Given the description of an element on the screen output the (x, y) to click on. 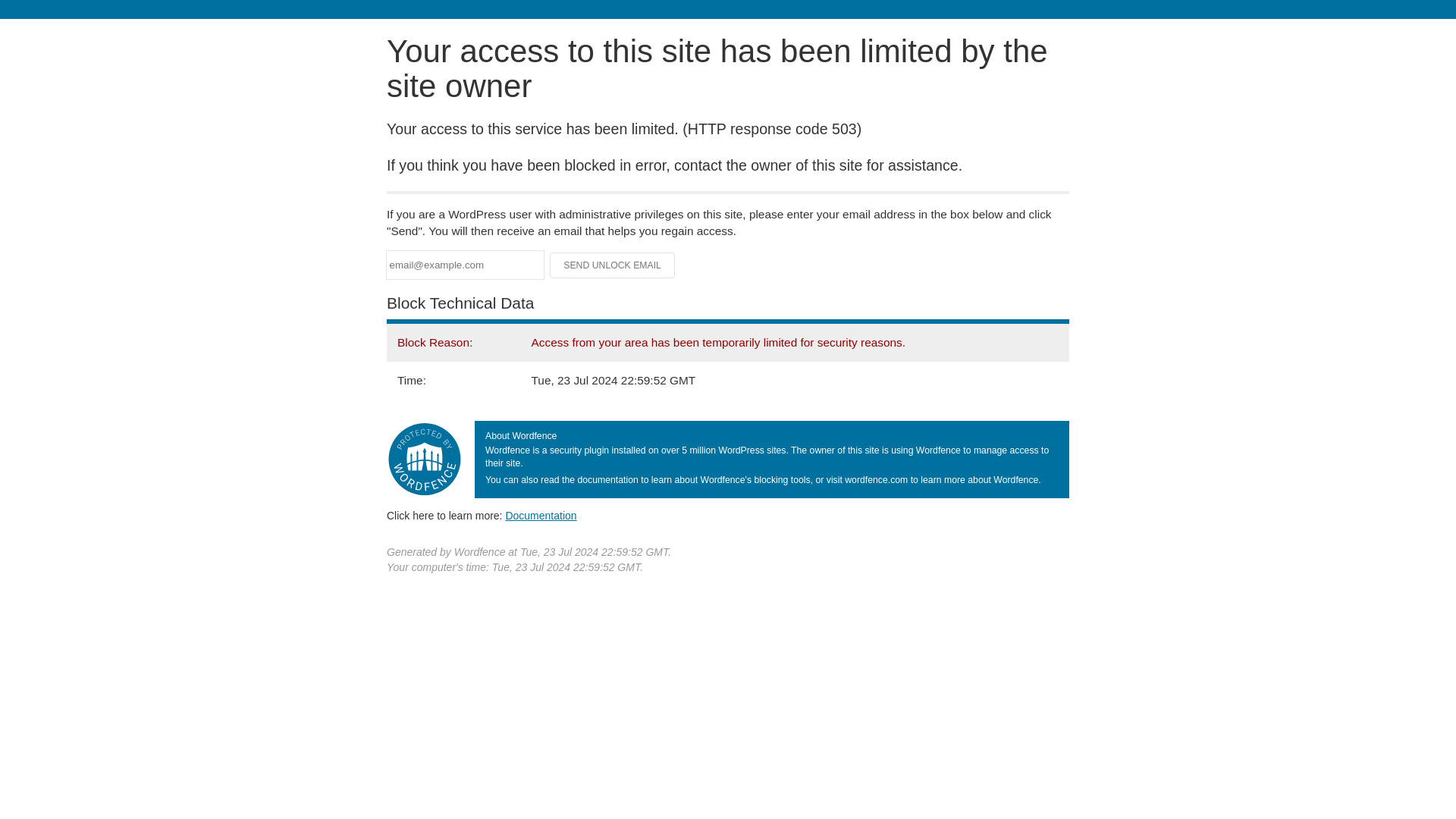
Send Unlock Email (612, 265)
Documentation (540, 515)
Send Unlock Email (612, 265)
